Given the description of an element on the screen output the (x, y) to click on. 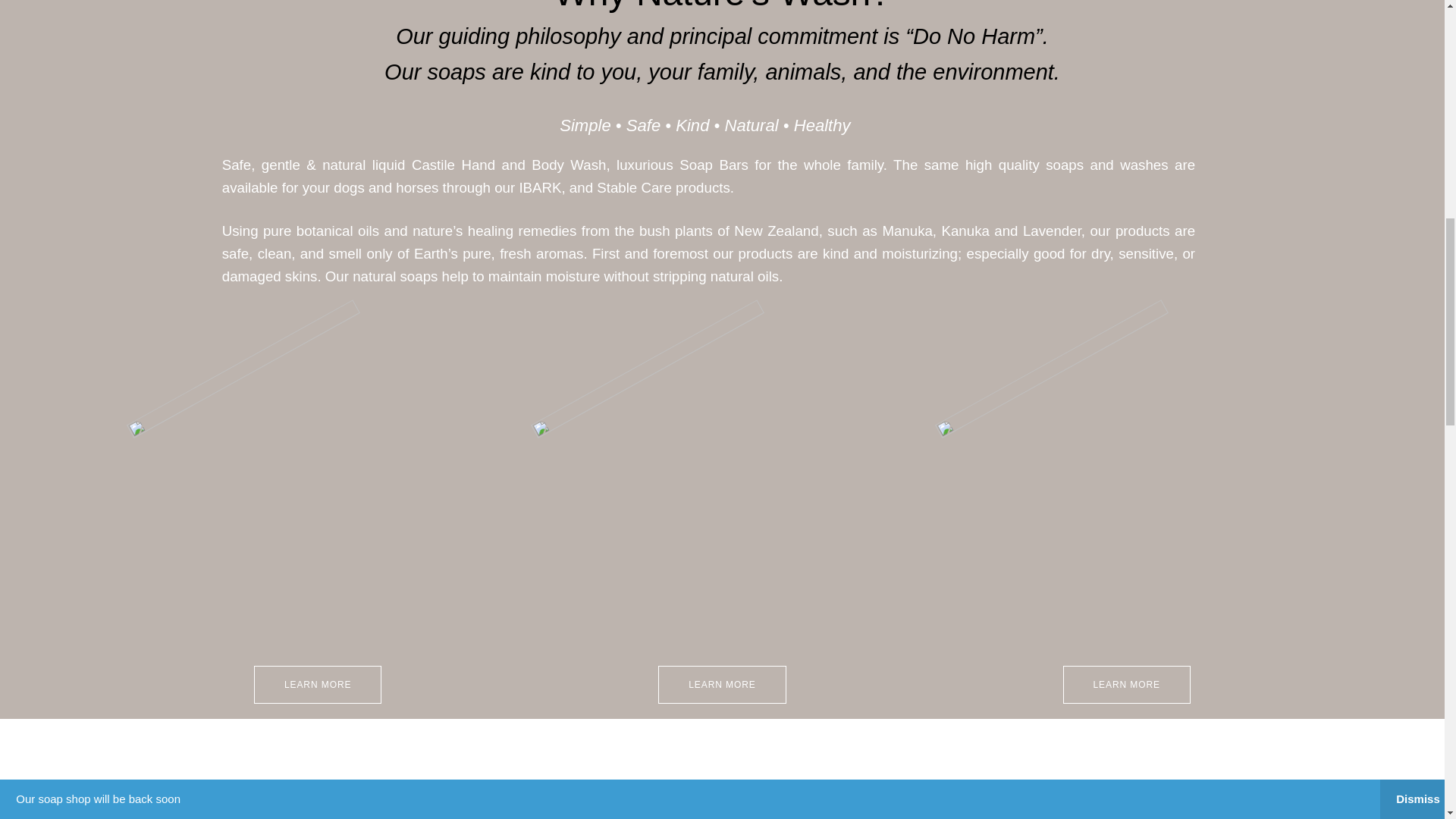
LEARN MORE (1126, 684)
LEARN MORE (722, 684)
LEARN MORE (317, 684)
